Given the description of an element on the screen output the (x, y) to click on. 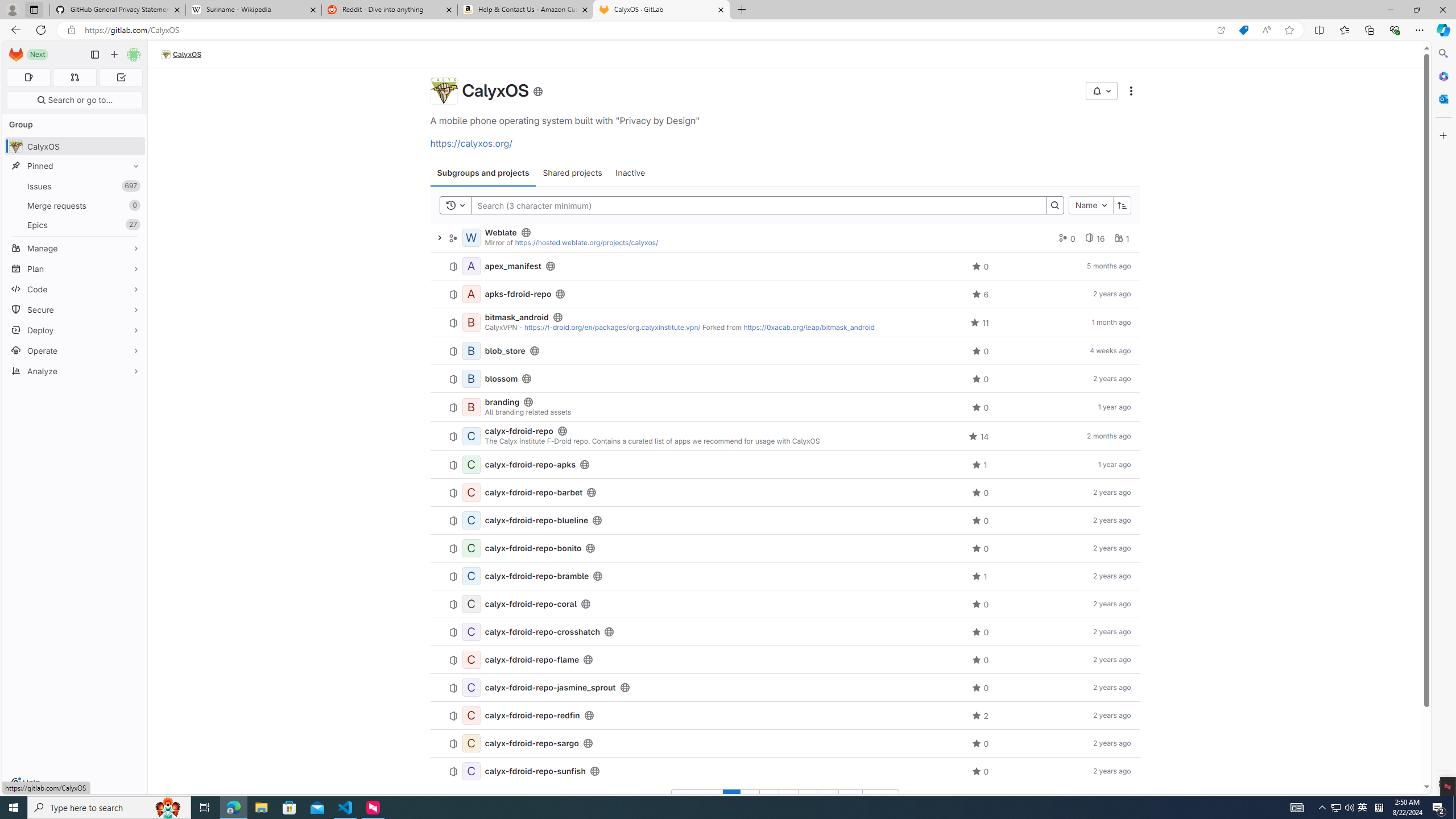
calyx-fdroid-repo-bramble (536, 575)
Unpin Epics (132, 224)
Plan (74, 268)
calyx-fdroid-repo-barbet (533, 492)
Unpin Issues (132, 186)
Class: s16 icon (537, 91)
AutomationID: __BVID__308__BV_toggle_ (1101, 90)
22 (850, 799)
Secure (74, 309)
Pinned (74, 165)
calyx-fdroid-repo-flame (531, 659)
